Given the description of an element on the screen output the (x, y) to click on. 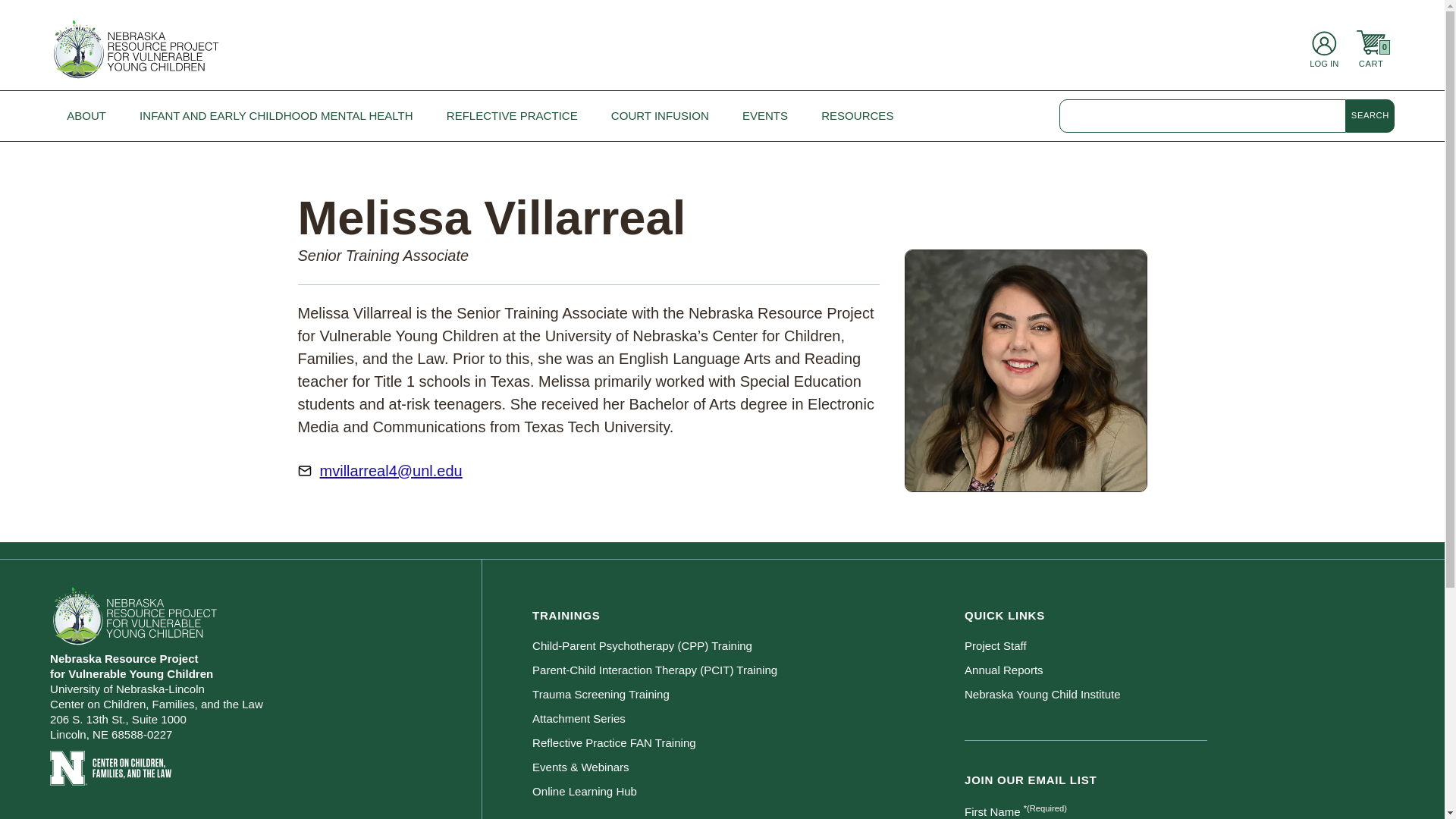
Reflective Practice FAN Training (747, 743)
COURT INFUSION (659, 115)
INFANT AND EARLY CHILDHOOD MENTAL HEALTH (275, 115)
EVENTS (765, 115)
Enter the terms you wish to search for. (1202, 115)
Search (1369, 115)
Attachment Series (747, 718)
REFLECTIVE PRACTICE (511, 115)
ABOUT (85, 115)
Search (1369, 115)
Trauma Screening Training (747, 694)
RESOURCES (857, 115)
